Given the description of an element on the screen output the (x, y) to click on. 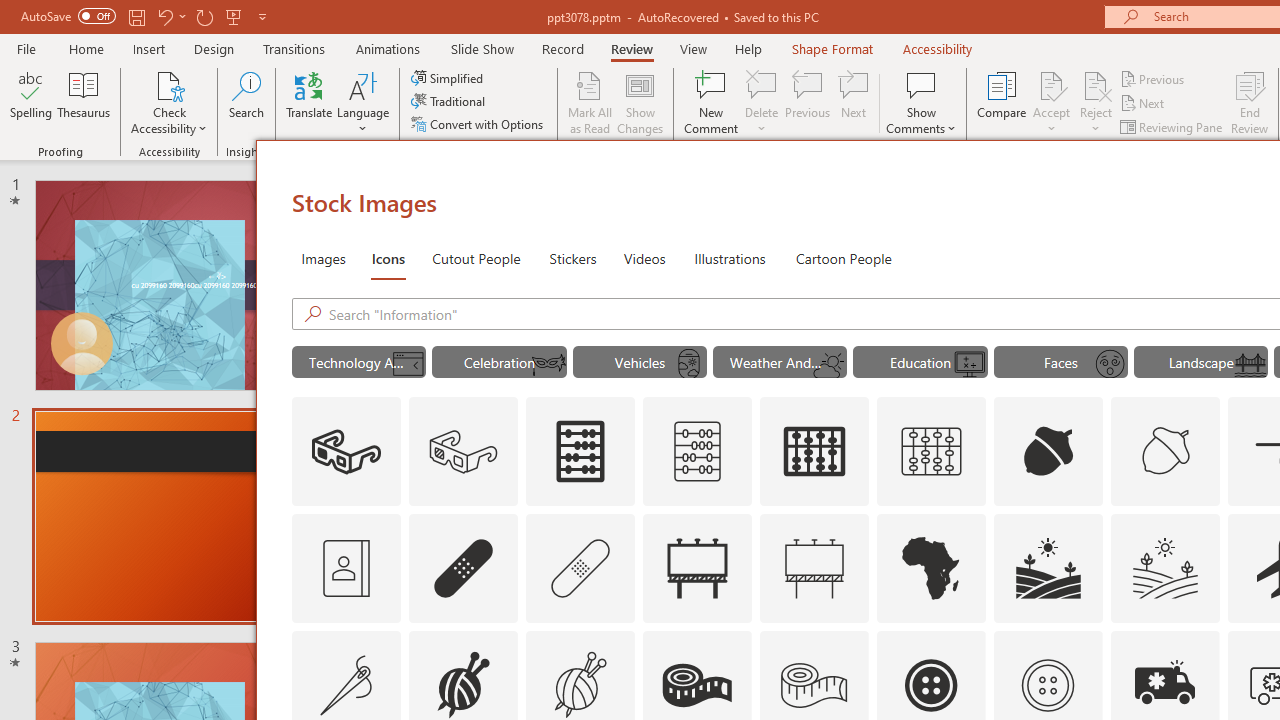
AutomationID: Icons_Abacus1_M (931, 452)
AutomationID: Icons_Abacus (580, 452)
AutomationID: Icons_AdhesiveBandage (463, 568)
AutomationID: Icons_AddressBook_RTL_M (346, 568)
Thumbnail (1204, 645)
AutomationID: Icons_PartialSun_M (829, 364)
AutomationID: Icons_Abacus_M (697, 452)
